Given the description of an element on the screen output the (x, y) to click on. 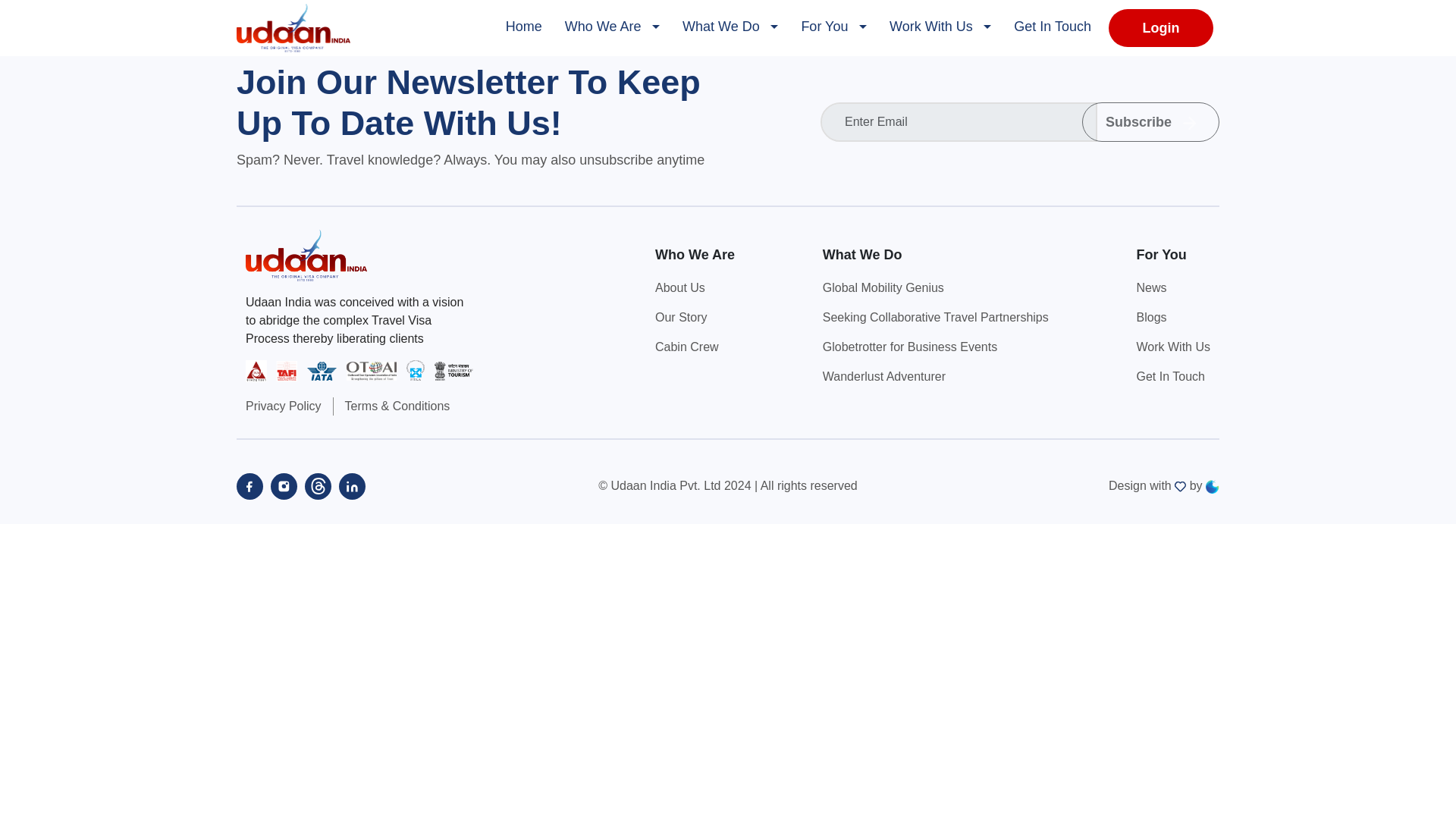
Home (523, 27)
Seeking Collaborative Travel Partnerships (935, 317)
Work With Us (1172, 347)
Get In Touch (1172, 376)
Blogs (1172, 317)
For You (834, 27)
Who We Are (611, 27)
Our Story (695, 317)
Privacy Policy (283, 406)
News (1172, 288)
